Given the description of an element on the screen output the (x, y) to click on. 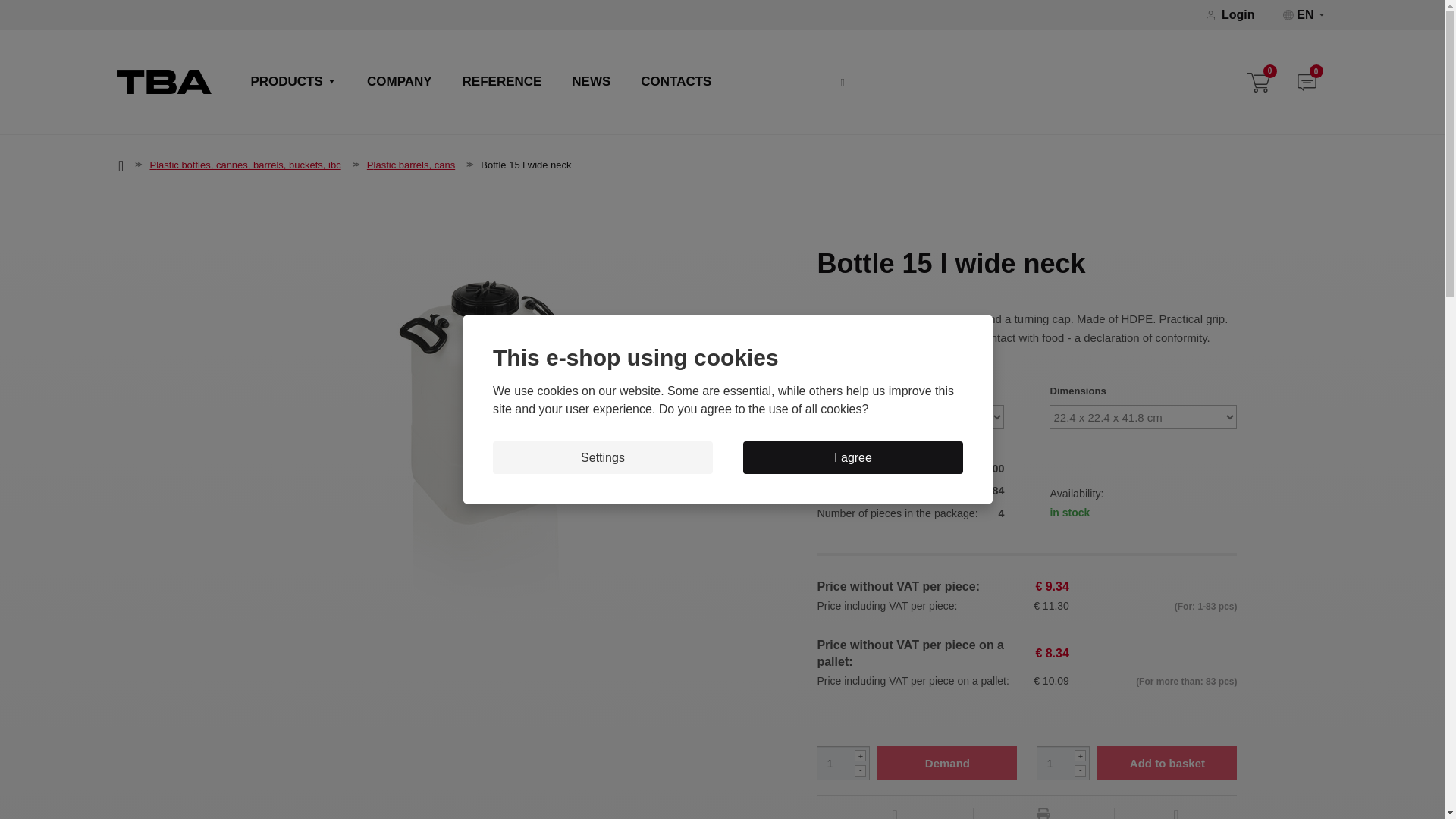
1 (842, 763)
plastic bottles, cannes, barrels, buckets, ibc (244, 164)
NEWS (591, 82)
Add to basket (1166, 763)
I agree (852, 457)
1 (1062, 763)
REFERENCE (501, 82)
Login (1238, 14)
Expert advice (893, 813)
Demand (946, 763)
